Given the description of an element on the screen output the (x, y) to click on. 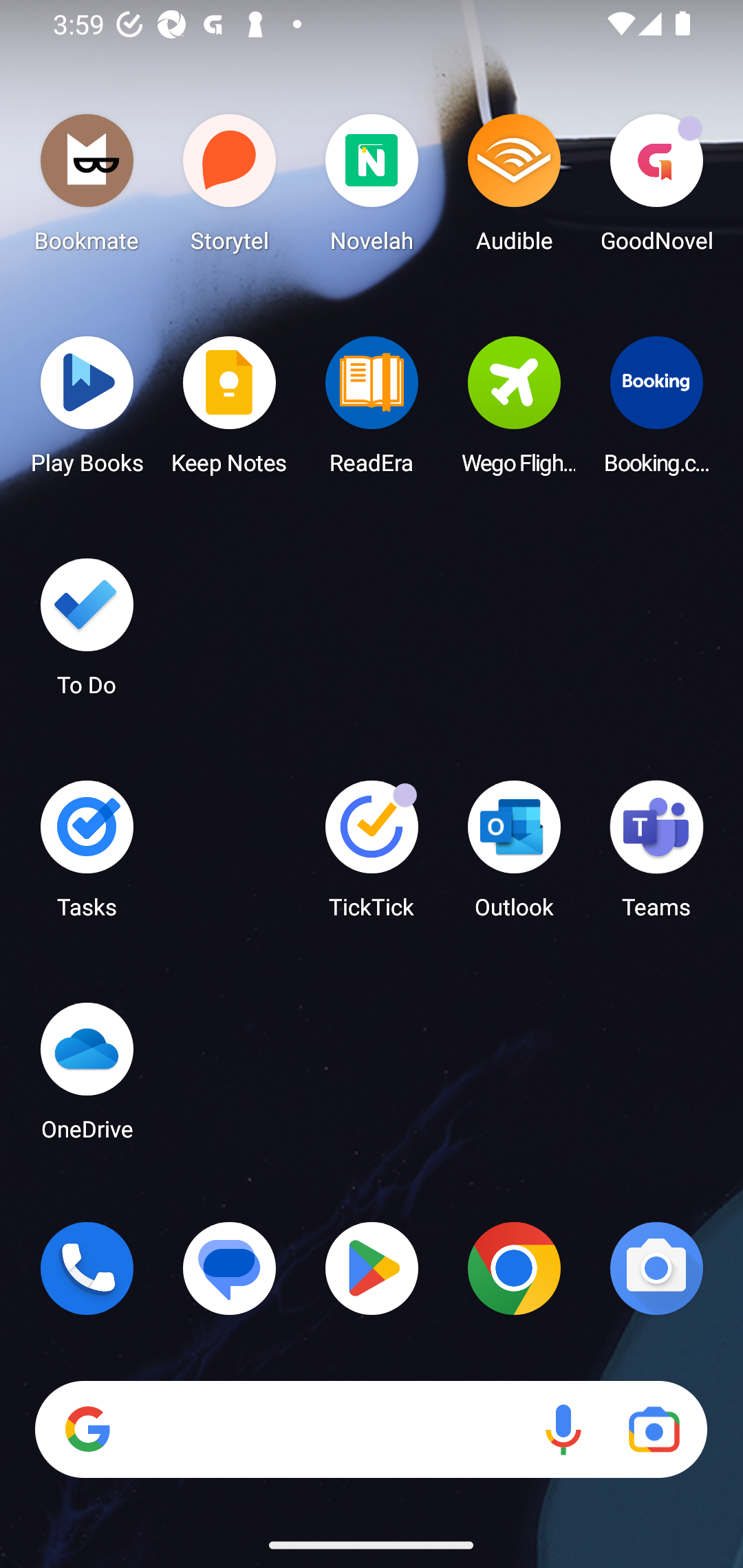
Bookmate (86, 188)
Storytel (229, 188)
Novelah (371, 188)
Audible (513, 188)
GoodNovel GoodNovel has 1 notification (656, 188)
Play Books (86, 410)
Keep Notes (229, 410)
ReadEra (371, 410)
Wego Flights & Hotels (513, 410)
Booking.com (656, 410)
To Do (86, 633)
Tasks (86, 854)
TickTick TickTick has 3 notifications (371, 854)
Outlook (513, 854)
Teams (656, 854)
OneDrive (86, 1076)
Phone (86, 1268)
Messages (229, 1268)
Play Store (371, 1268)
Chrome (513, 1268)
Camera (656, 1268)
Search Voice search Google Lens (370, 1429)
Voice search (562, 1429)
Google Lens (653, 1429)
